Given the description of an element on the screen output the (x, y) to click on. 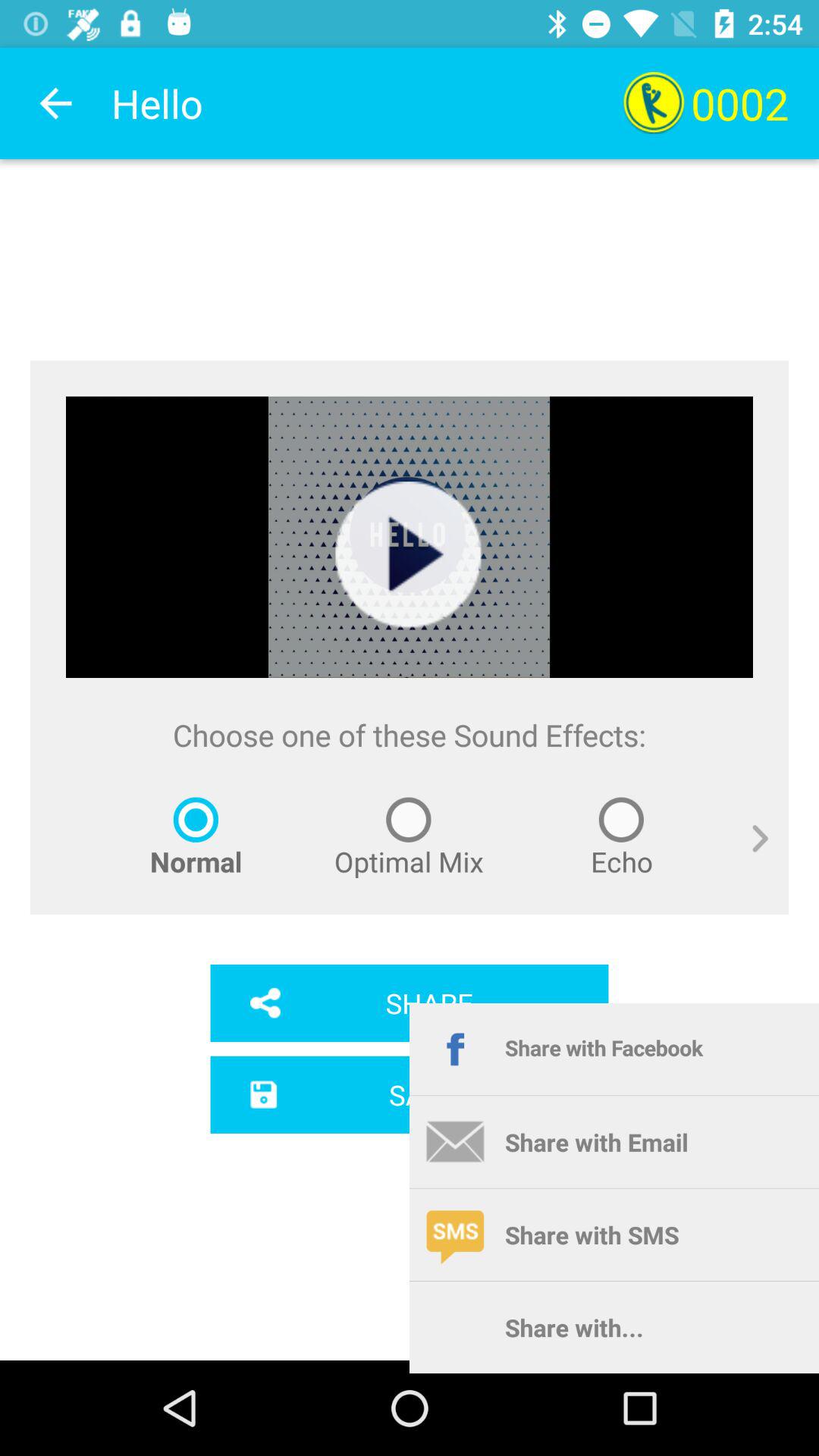
choose item above share with facebook item (748, 855)
